Given the description of an element on the screen output the (x, y) to click on. 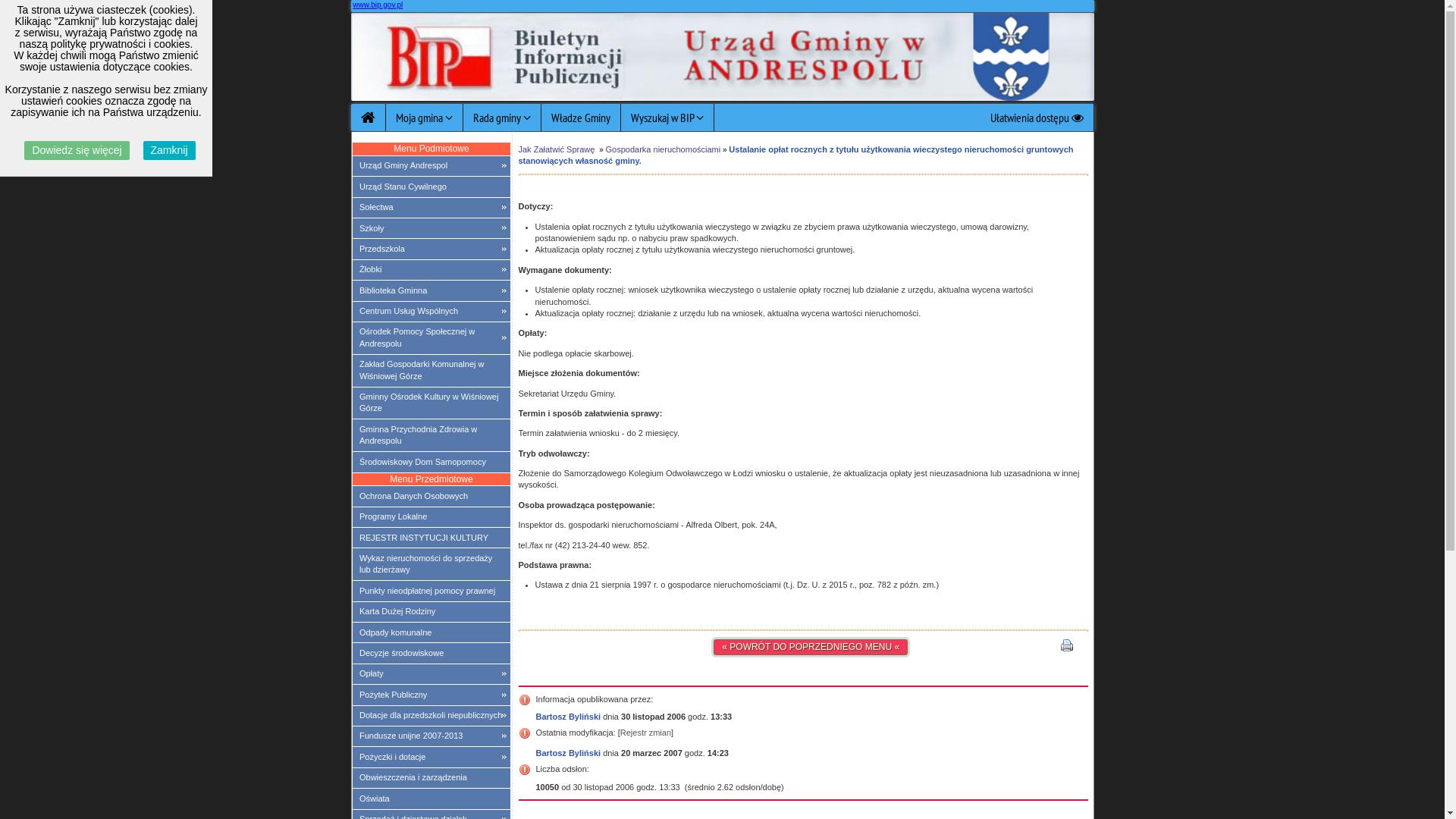
Rejestr zmian Element type: text (645, 732)
Zamknij Element type: text (169, 150)
Wyszukaj w BIP Element type: text (666, 117)
REJESTR INSTYTUCJI KULTURY Element type: text (431, 537)
Fundusze unijne 2007-2013 Element type: text (431, 736)
Dotacje dla przedszkoli niepublicznych Element type: text (431, 715)
Wyszukaj Element type: text (722, 181)
www.bip.gov.pl Element type: text (377, 4)
Odpady komunalne Element type: text (431, 632)
Rada gminy Element type: text (501, 117)
Biblioteka Gminna Element type: text (431, 290)
Gminna Przychodnia Zdrowia w Andrespolu Element type: text (431, 435)
Moja gmina Element type: text (423, 117)
Programy Lokalne Element type: text (431, 517)
Ochrona Danych Osobowych Element type: text (431, 495)
Przedszkola Element type: text (431, 248)
